Given the description of an element on the screen output the (x, y) to click on. 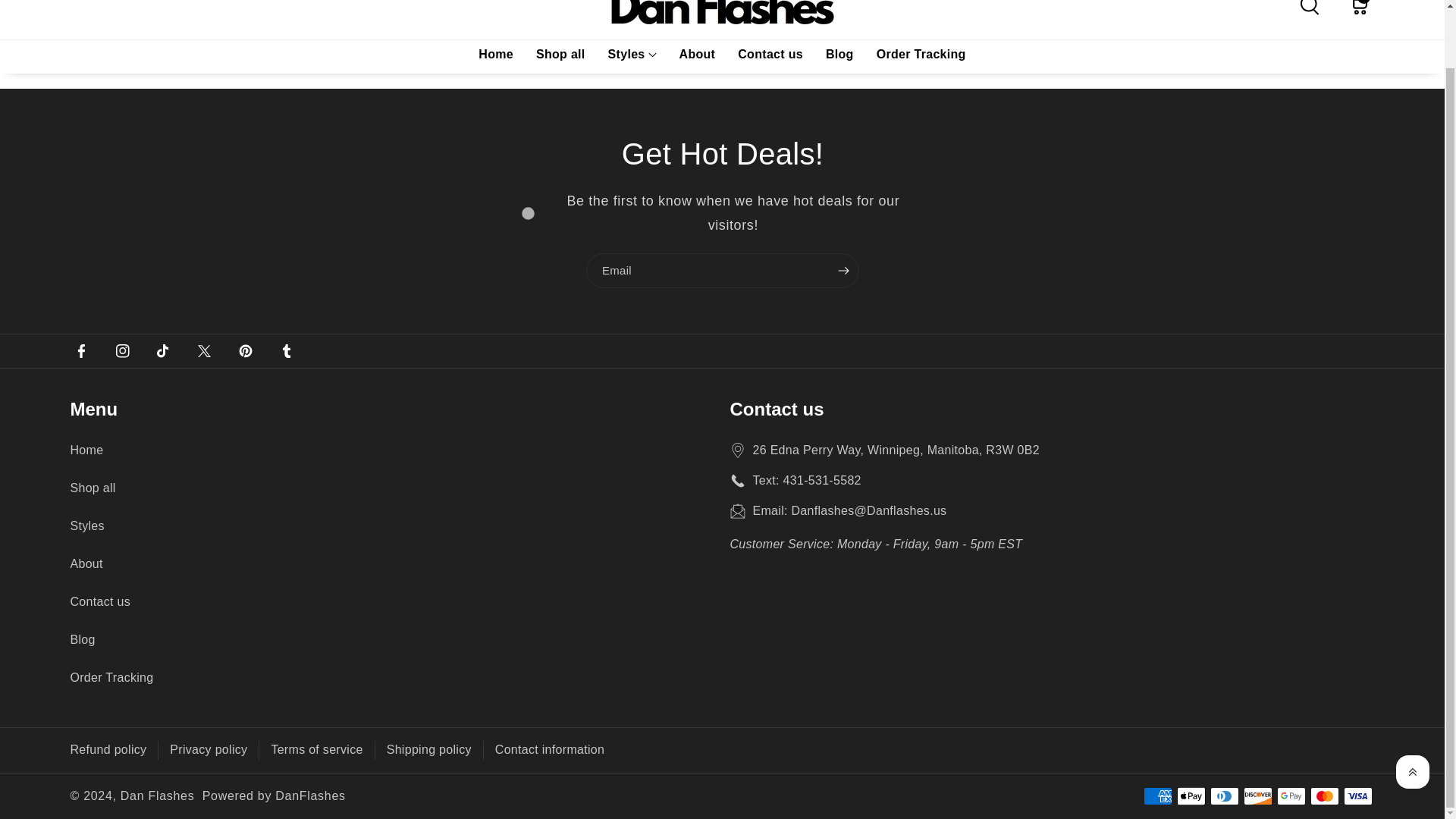
Scroll to top (1412, 708)
